Given the description of an element on the screen output the (x, y) to click on. 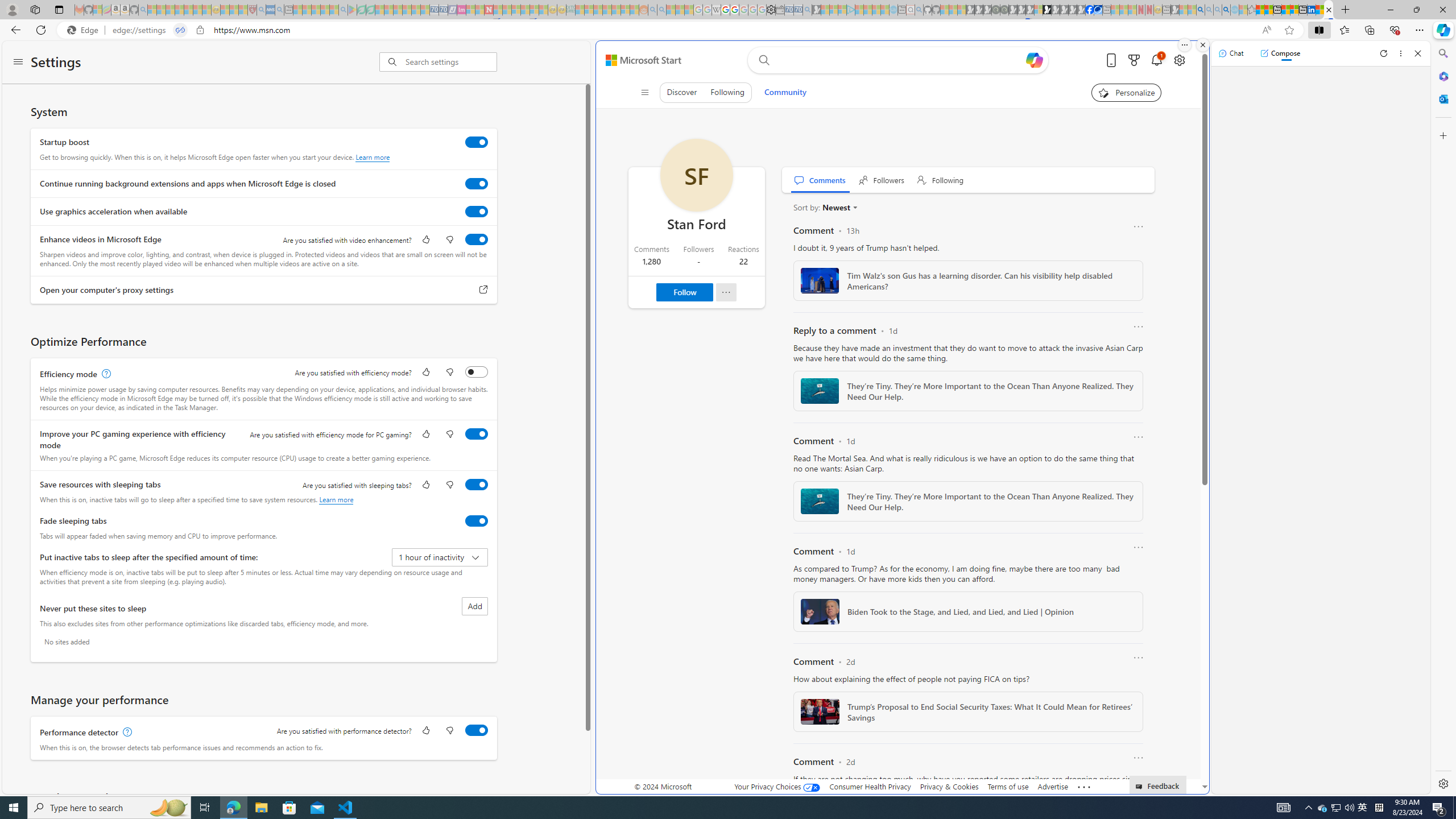
Efficiency mode, learn more (104, 374)
Learn more (335, 499)
Privacy Help Center - Policies Help (725, 9)
